Given the description of an element on the screen output the (x, y) to click on. 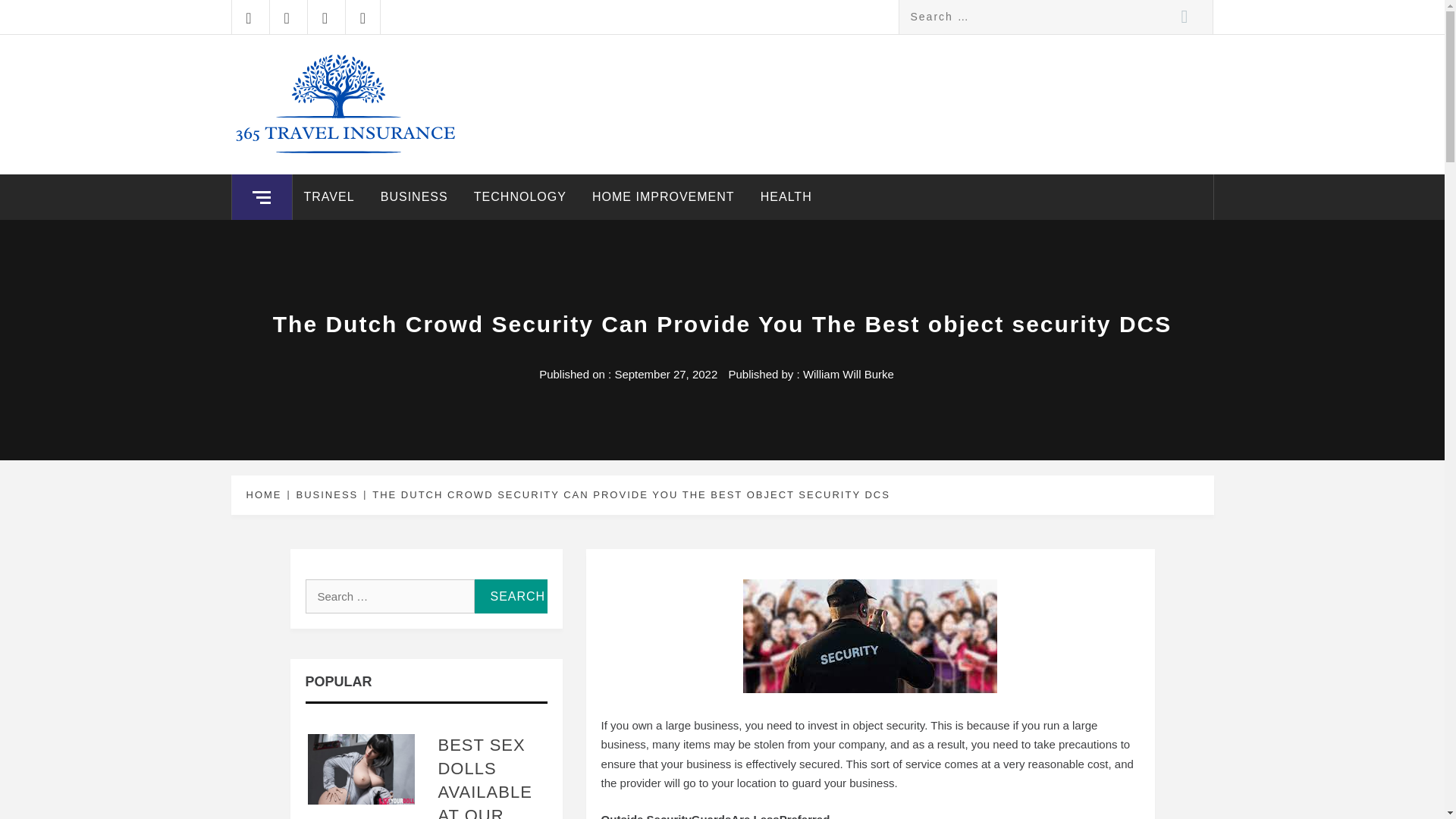
Search (510, 596)
Search (510, 596)
September 27, 2022 (665, 373)
HEALTH (786, 197)
365 Travel Insurance (393, 70)
Search (1184, 17)
Search (510, 596)
William Will Burke (848, 373)
HOME IMPROVEMENT (662, 197)
TRAVEL (329, 197)
Search (1184, 17)
TECHNOLOGY (520, 197)
BEST SEX DOLLS AVAILABLE AT OUR OFFICIAL STORE (484, 777)
BUSINESS (414, 197)
